Given the description of an element on the screen output the (x, y) to click on. 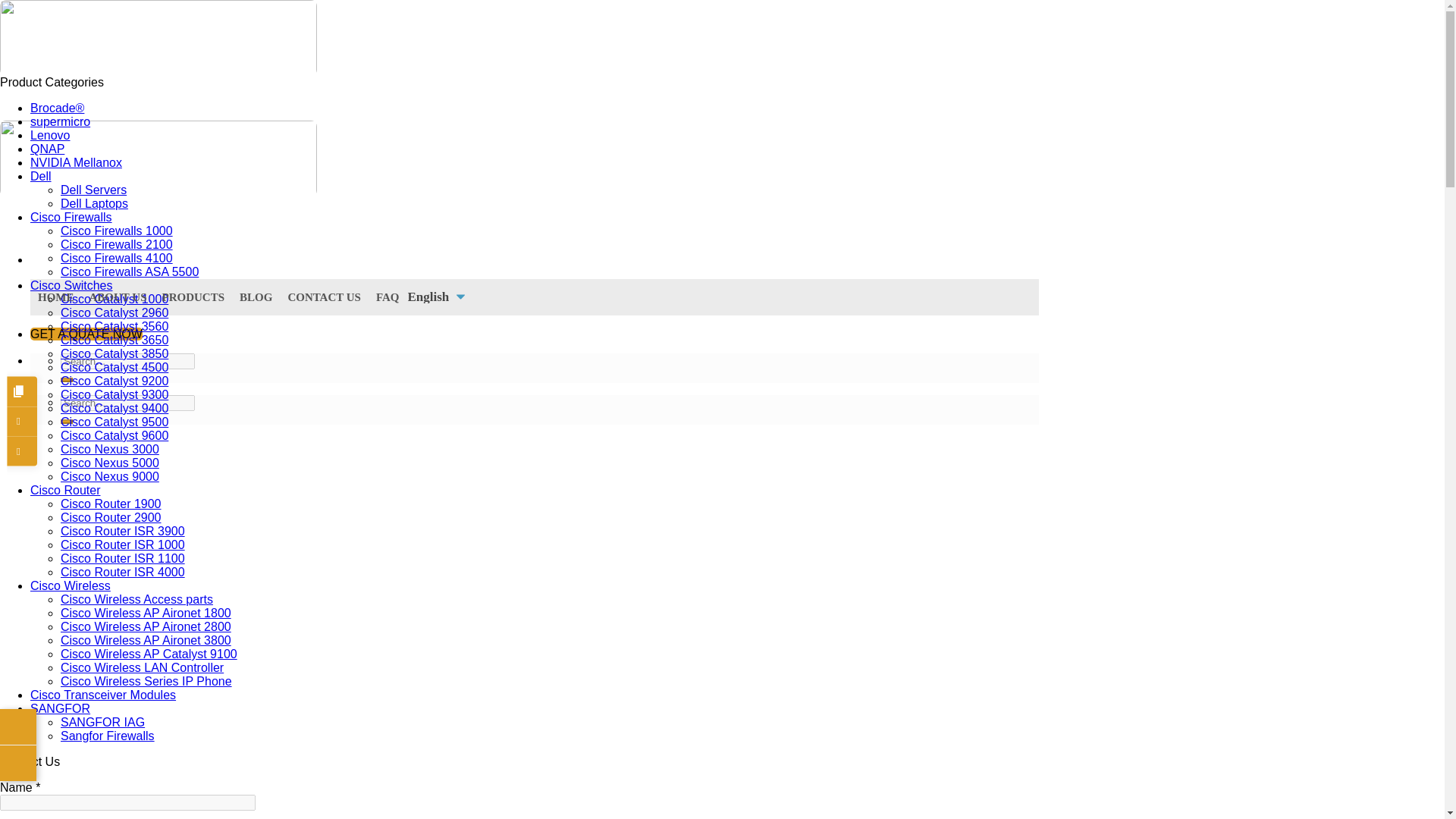
HOME (55, 297)
ABOUT US (117, 297)
PRODUCTS (193, 297)
